Given the description of an element on the screen output the (x, y) to click on. 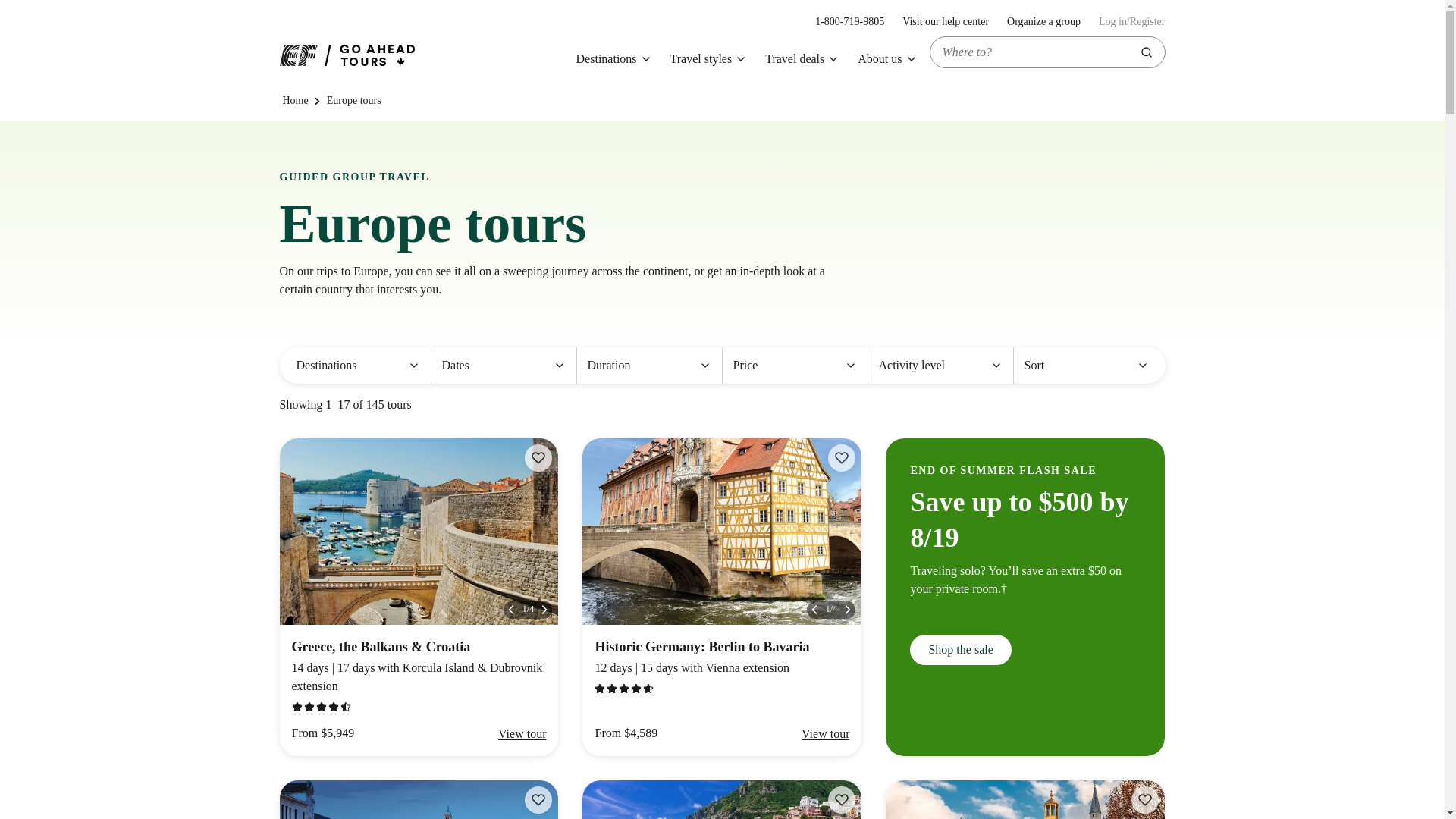
Destinations (614, 59)
Destinations (357, 365)
Dates (502, 365)
About us (849, 21)
Organize a group (887, 59)
Travel styles (1043, 21)
Visit our help center (708, 59)
Activity level (945, 21)
